Given the description of an element on the screen output the (x, y) to click on. 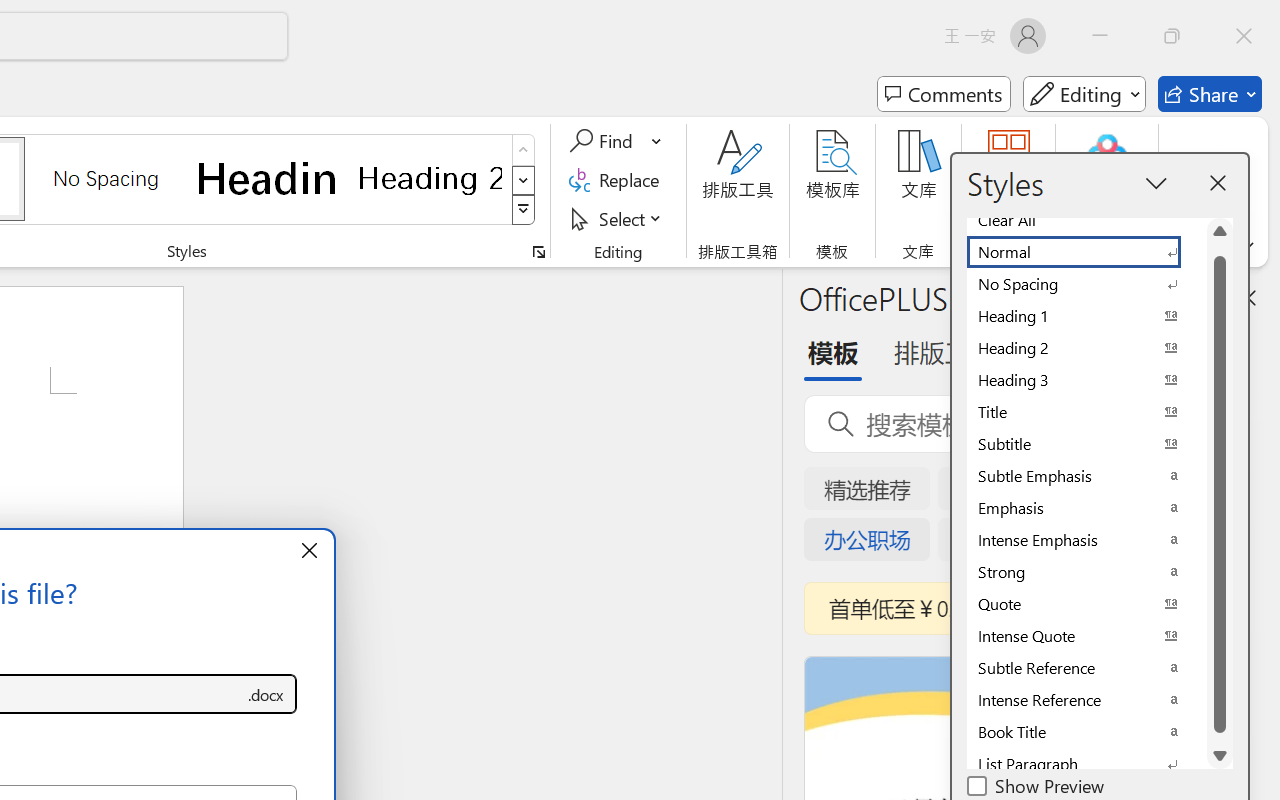
Subtle Emphasis (1086, 475)
Minimize (1099, 36)
Emphasis (1086, 508)
Styles (523, 209)
Save as type (265, 694)
Intense Emphasis (1086, 540)
Strong (1086, 572)
